Given the description of an element on the screen output the (x, y) to click on. 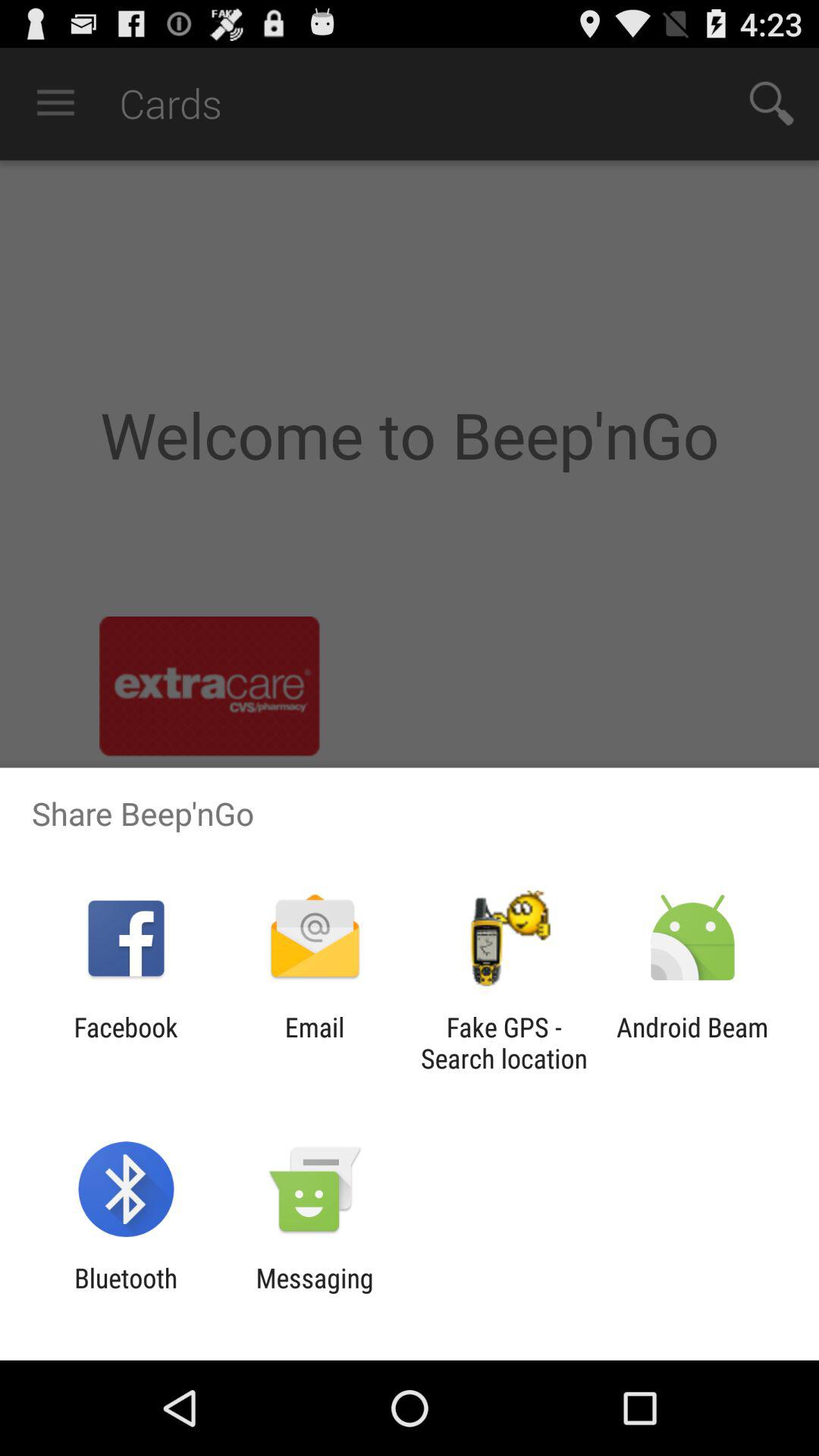
click app next to email icon (503, 1042)
